Given the description of an element on the screen output the (x, y) to click on. 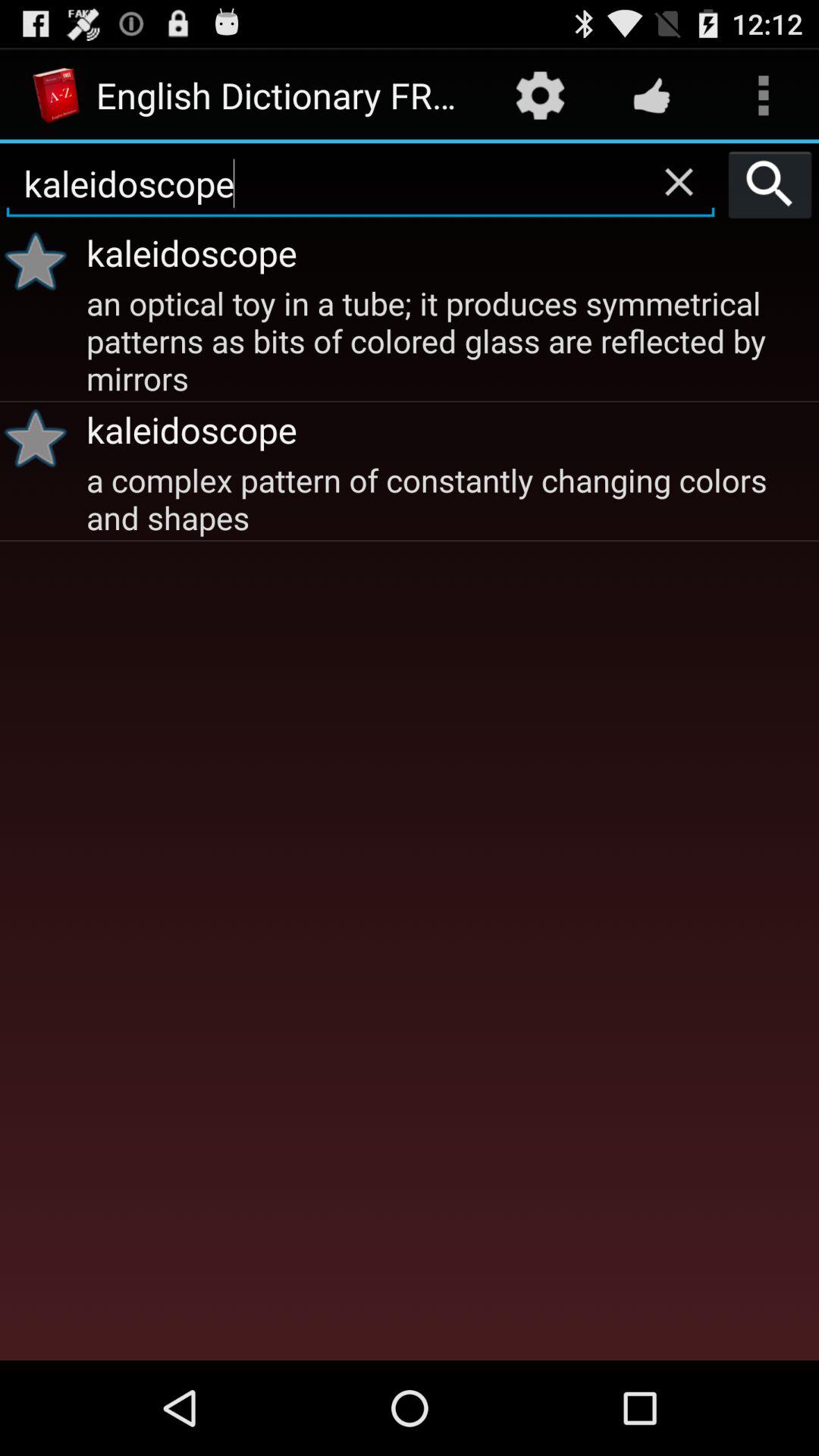
launch icon next to an optical toy icon (41, 437)
